Given the description of an element on the screen output the (x, y) to click on. 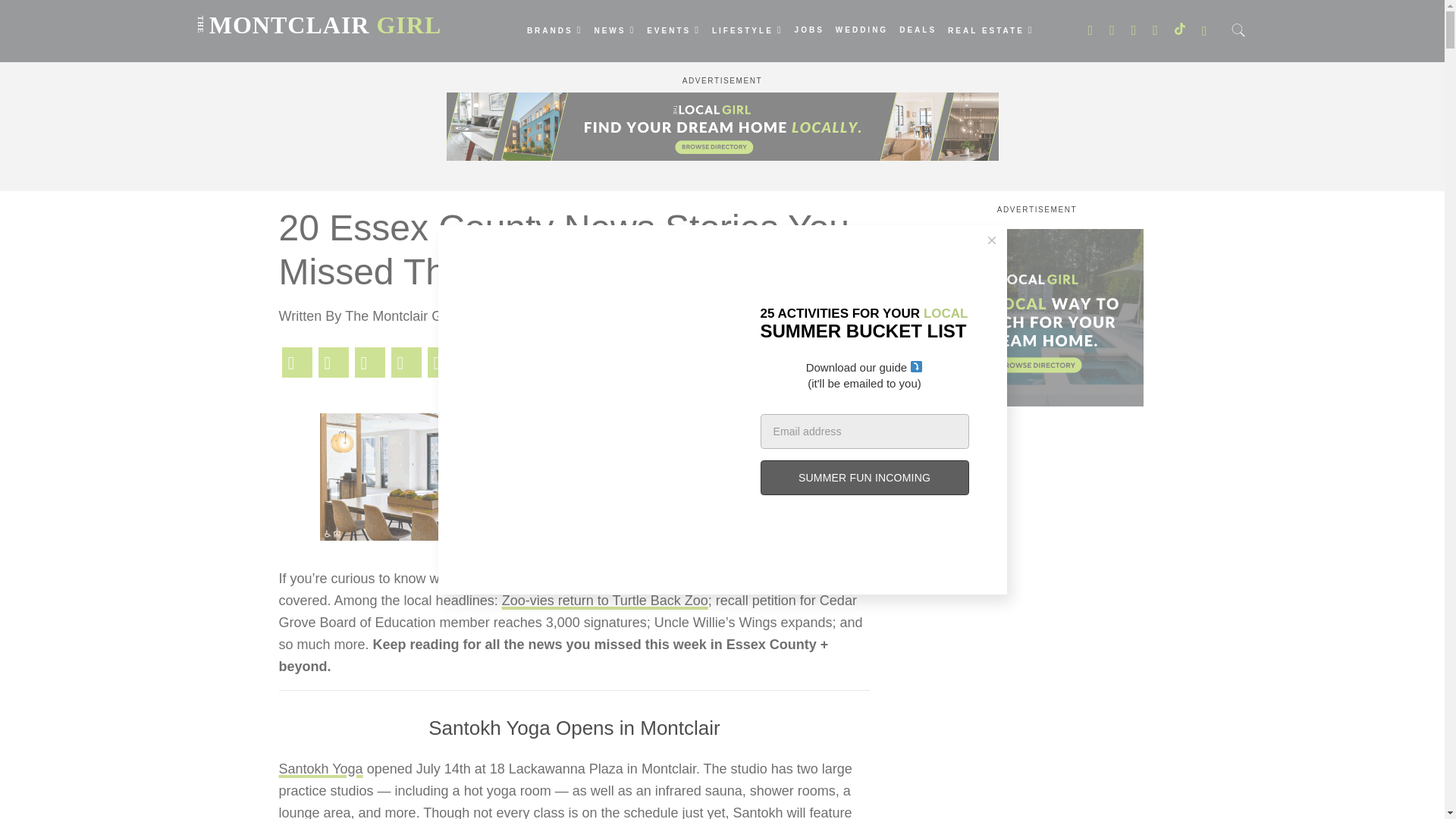
THEMONTCLAIR GIRL (315, 13)
LinkedIn (406, 361)
Pinterest (370, 361)
LIFESTYLE (747, 30)
BRANDS (555, 30)
More Options (479, 361)
REAL ESTATE (990, 30)
Email This (443, 361)
Facebook (297, 361)
